Given the description of an element on the screen output the (x, y) to click on. 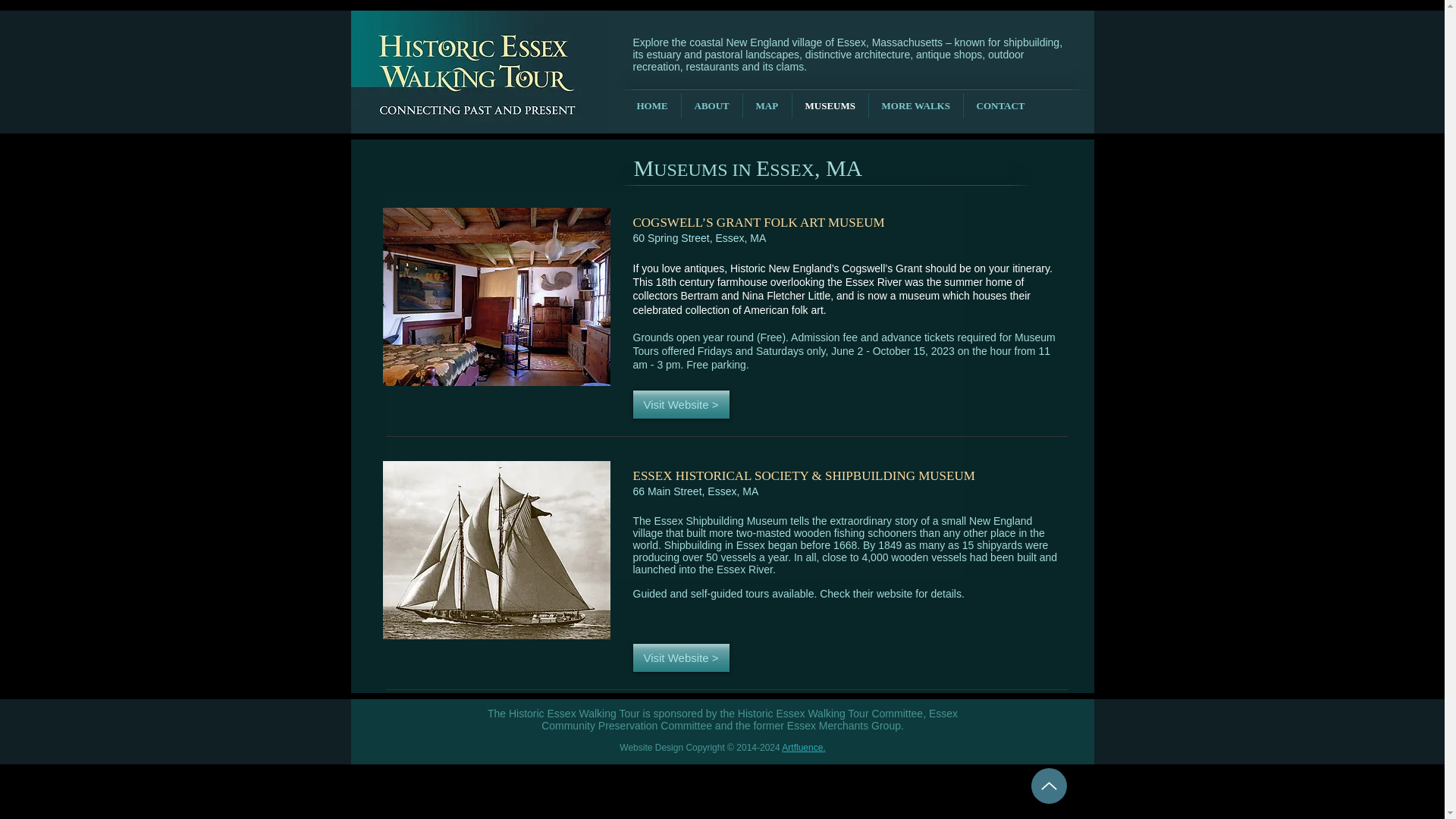
Connecting Past and Present (479, 115)
MORE WALKS (915, 105)
MUSEUMS (829, 105)
CONTACT (999, 105)
Artfluence (801, 747)
MAP (767, 105)
ABOUT (711, 105)
HOME (651, 105)
Historic Essex Walking Tour (479, 53)
